Given the description of an element on the screen output the (x, y) to click on. 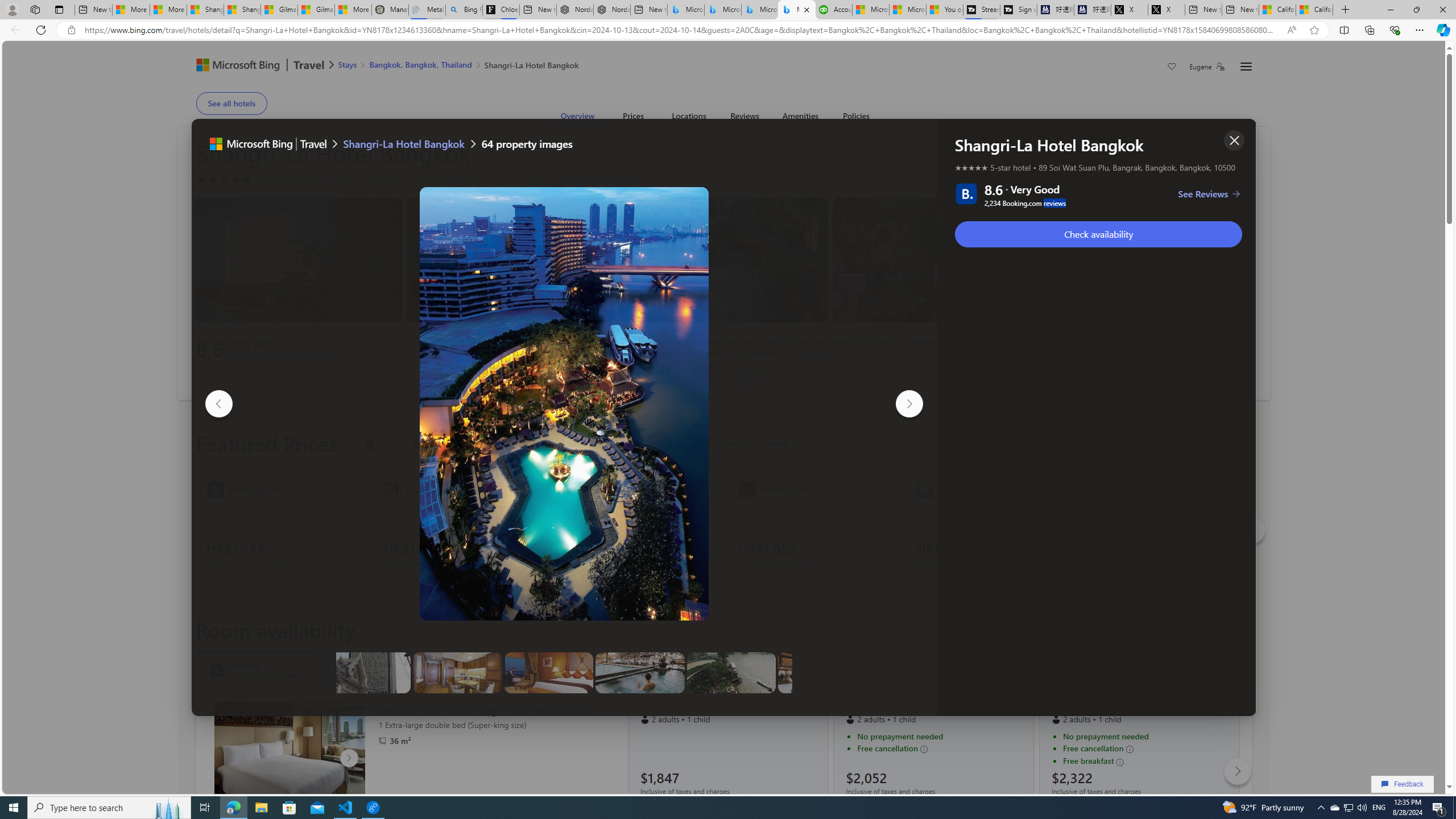
Accounting Software for Accountants, CPAs and Bookkeepers (833, 9)
Microsoft Bing Travel - Stays in Bangkok, Bangkok, Thailand (721, 9)
Gilma and Hector both pose tropical trouble for Hawaii (315, 9)
Microsoft Start (906, 9)
Bing Real Estate - Home sales and rental listings (464, 9)
Shanghai, China weather forecast | Microsoft Weather (241, 9)
